Given the description of an element on the screen output the (x, y) to click on. 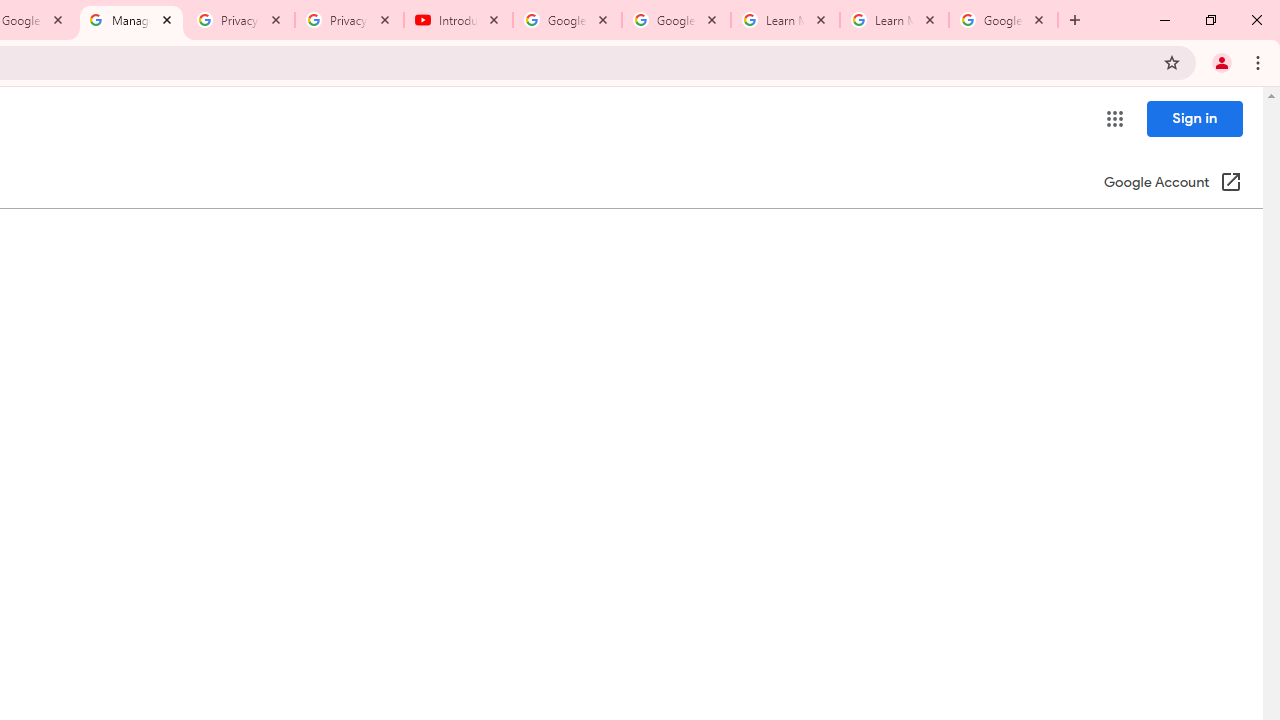
Google Account Help (676, 20)
Google Account (Open in a new window) (1172, 183)
Google Account Help (567, 20)
Introduction | Google Privacy Policy - YouTube (458, 20)
Google Account (1003, 20)
